Given the description of an element on the screen output the (x, y) to click on. 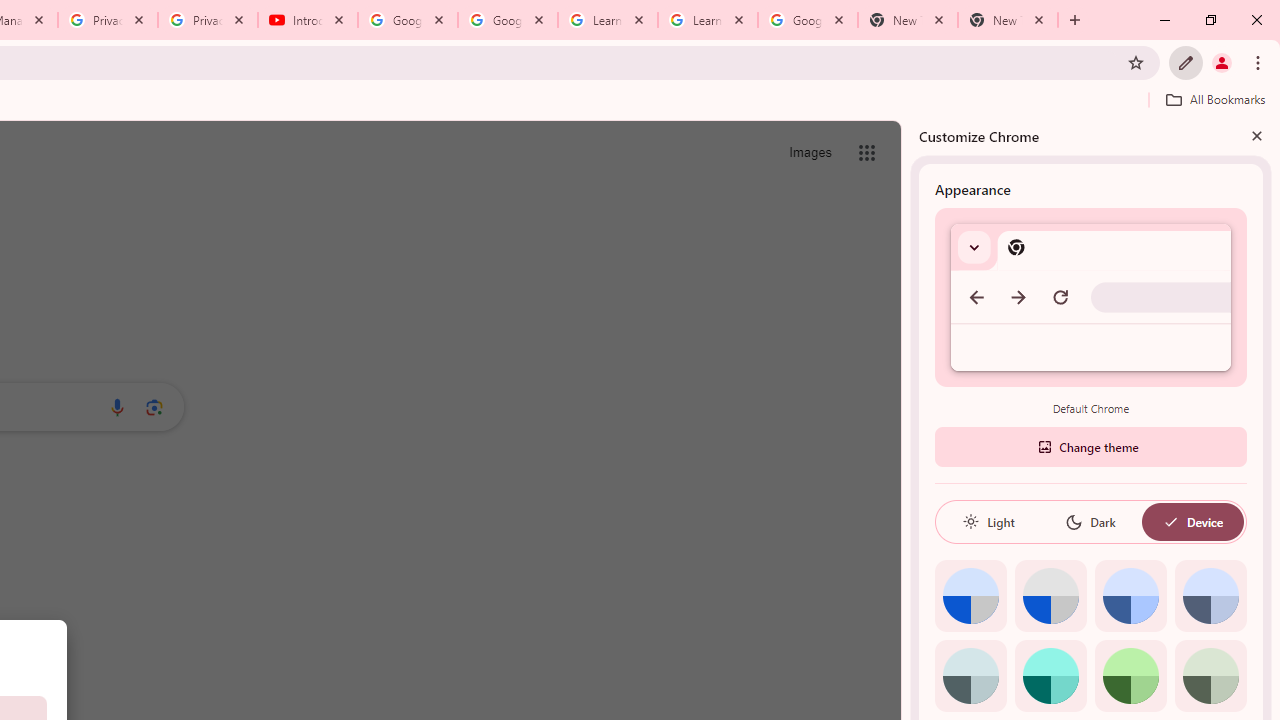
Green (1130, 676)
Grey (970, 676)
Google Account Help (408, 20)
Dark (1090, 521)
Default color (970, 596)
Device (1192, 521)
New Tab (1007, 20)
